Given the description of an element on the screen output the (x, y) to click on. 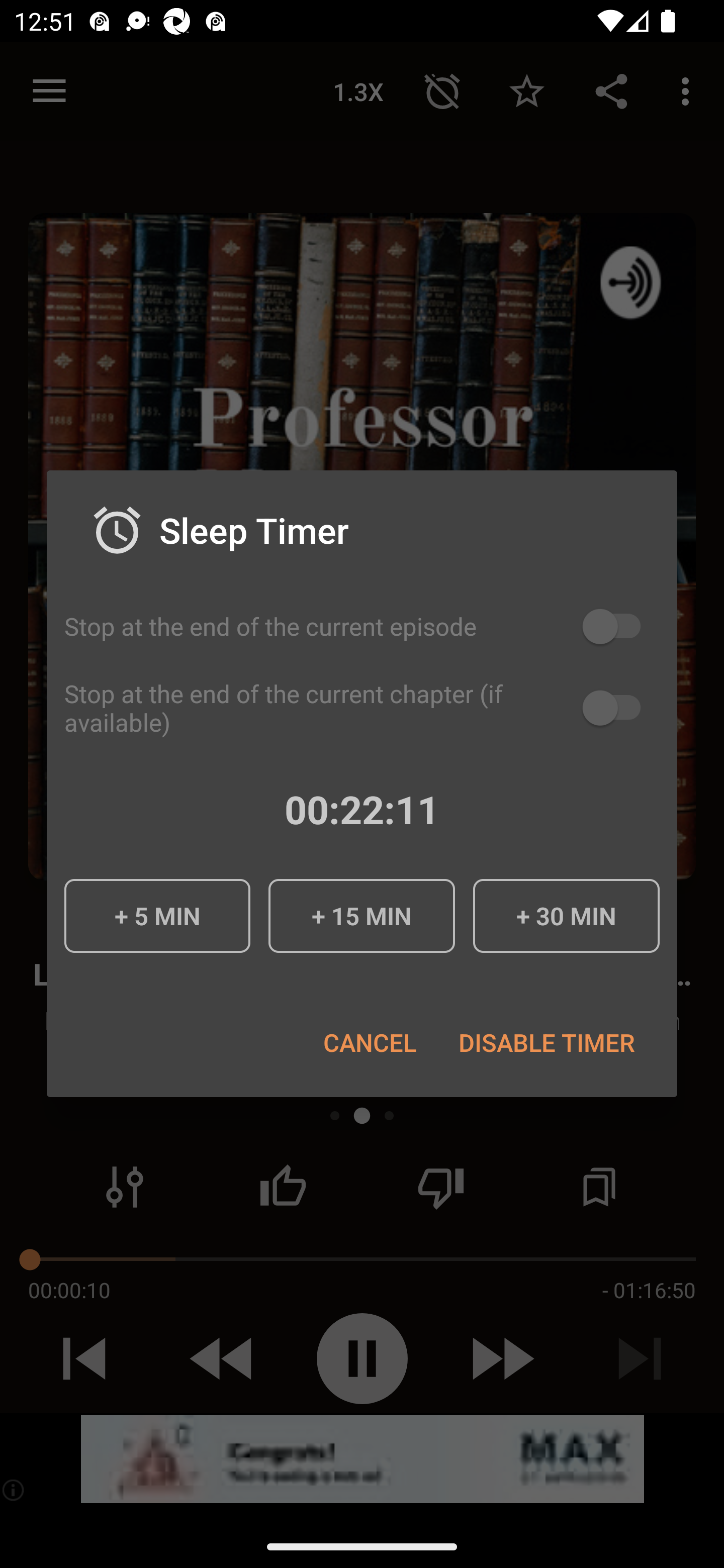
Stop at the end of the current episode (361, 626)
+ 5 MIN (157, 916)
+ 15 MIN (361, 916)
+ 30 MIN (565, 916)
CANCEL (369, 1042)
DISABLE TIMER (546, 1042)
